Given the description of an element on the screen output the (x, y) to click on. 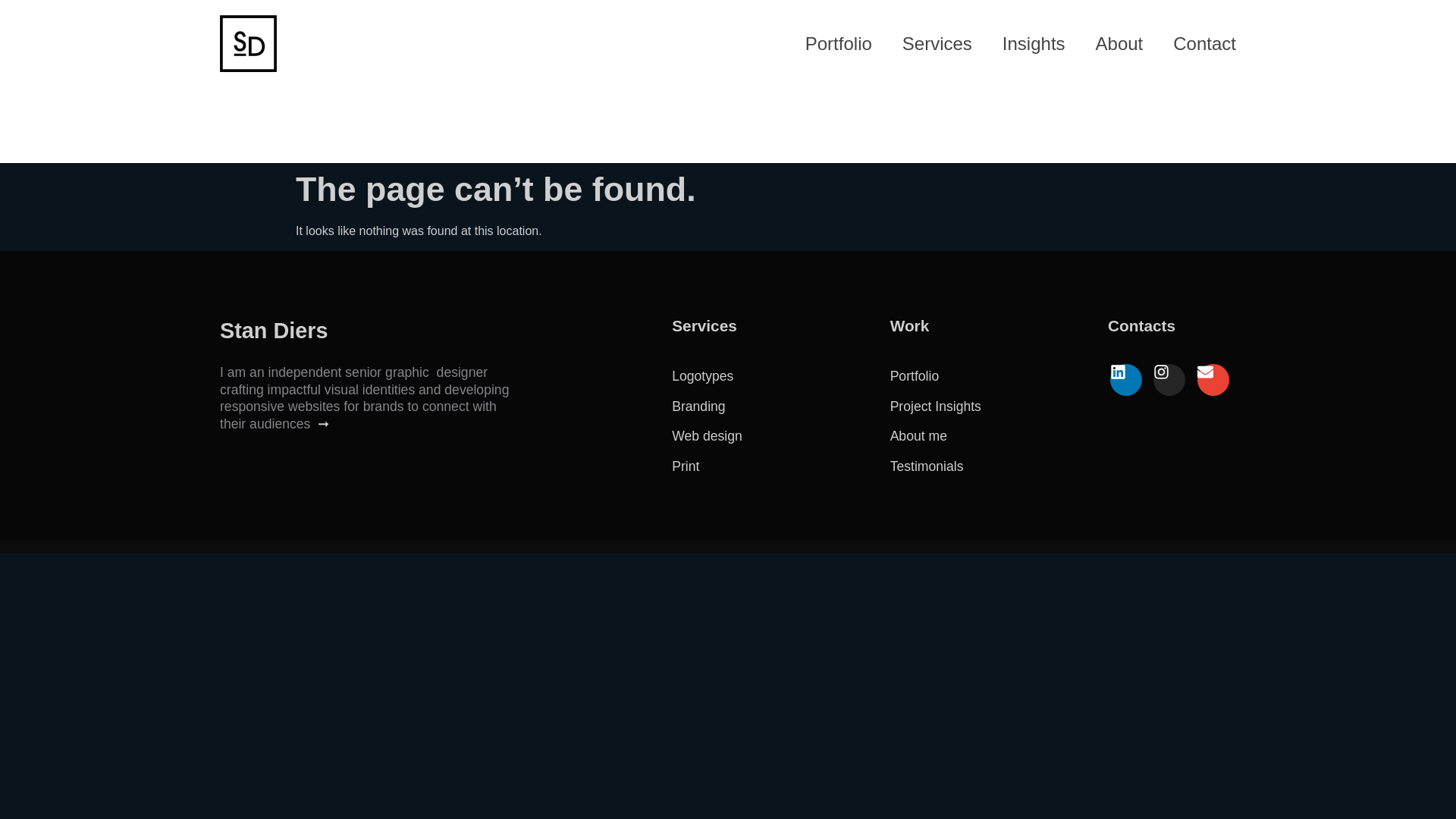
Branding (698, 406)
Stan Diers (273, 330)
Web design (706, 435)
Contact (1204, 42)
About (1119, 42)
Portfolio (838, 42)
Project Insights (935, 406)
Portfolio (914, 376)
Logotypes (702, 376)
Services (937, 42)
